Given the description of an element on the screen output the (x, y) to click on. 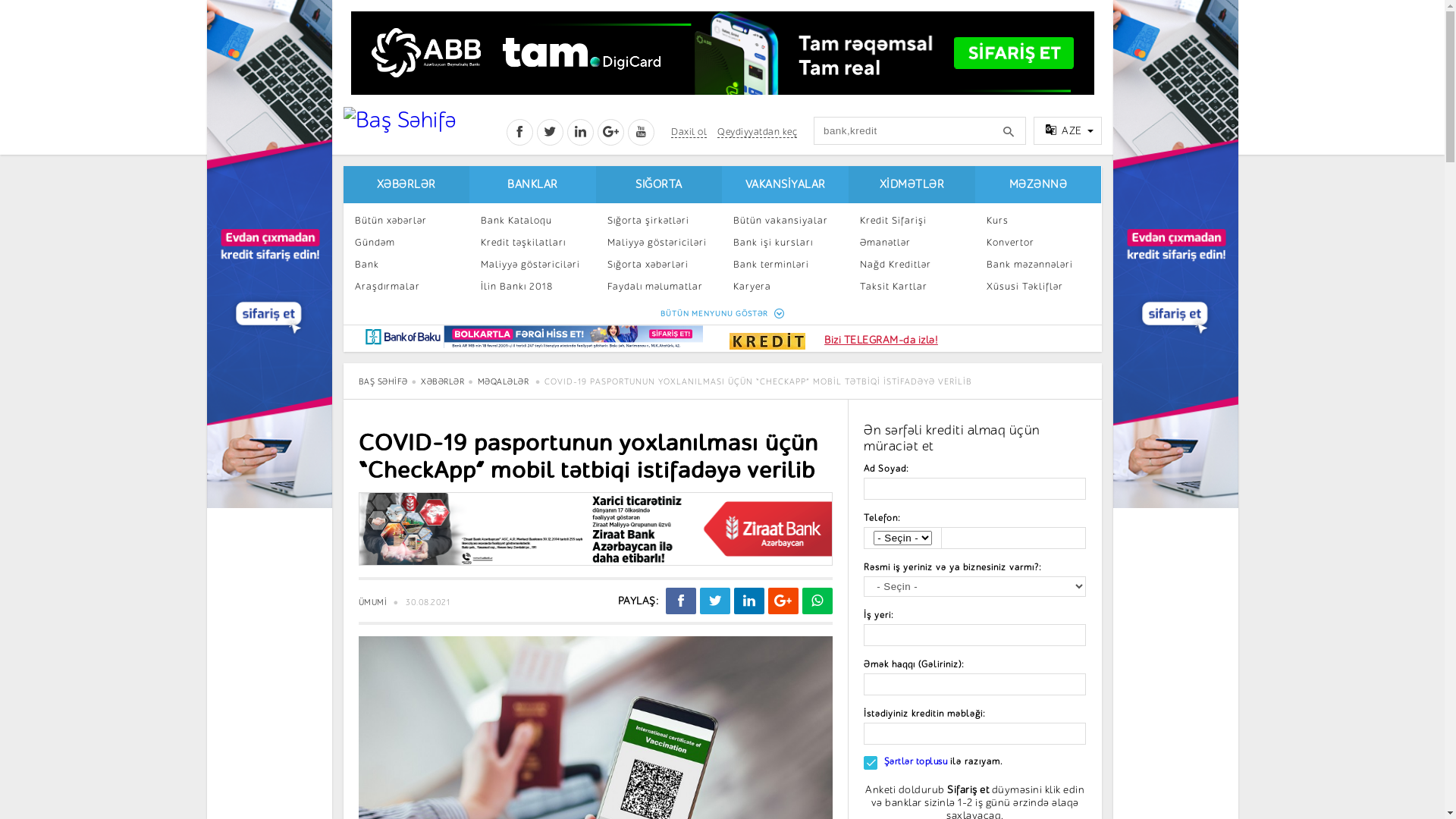
Enter the terms you wish to search for. Element type: hover (919, 130)
Bank Element type: text (406, 264)
Skip to main content Element type: text (50, 0)
Kurs Element type: text (1038, 220)
Taksit Kartlar Element type: text (911, 286)
Daxil ol Element type: text (688, 131)
Bank Kataloqu Element type: text (532, 220)
VAKANSIYALAR Element type: text (785, 184)
BANKLAR Element type: text (532, 184)
AZE Element type: text (1067, 130)
Konvertor Element type: text (1038, 242)
Kampaniyalar Element type: text (911, 330)
Karyera Element type: text (784, 286)
